Given the description of an element on the screen output the (x, y) to click on. 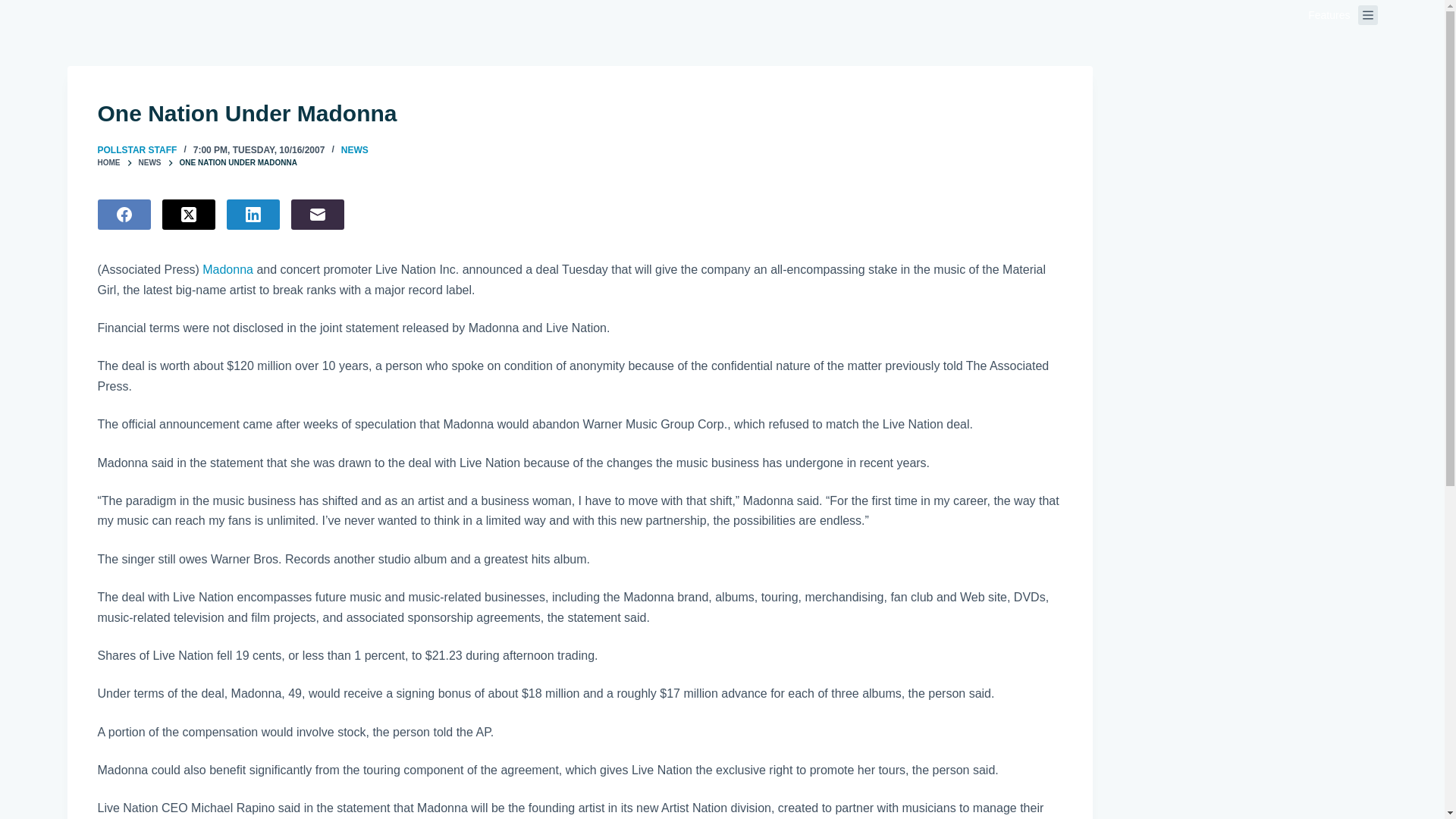
Posts by Pollstar Staff (136, 149)
One Nation Under Madonna (579, 113)
Skip to content (15, 7)
